Given the description of an element on the screen output the (x, y) to click on. 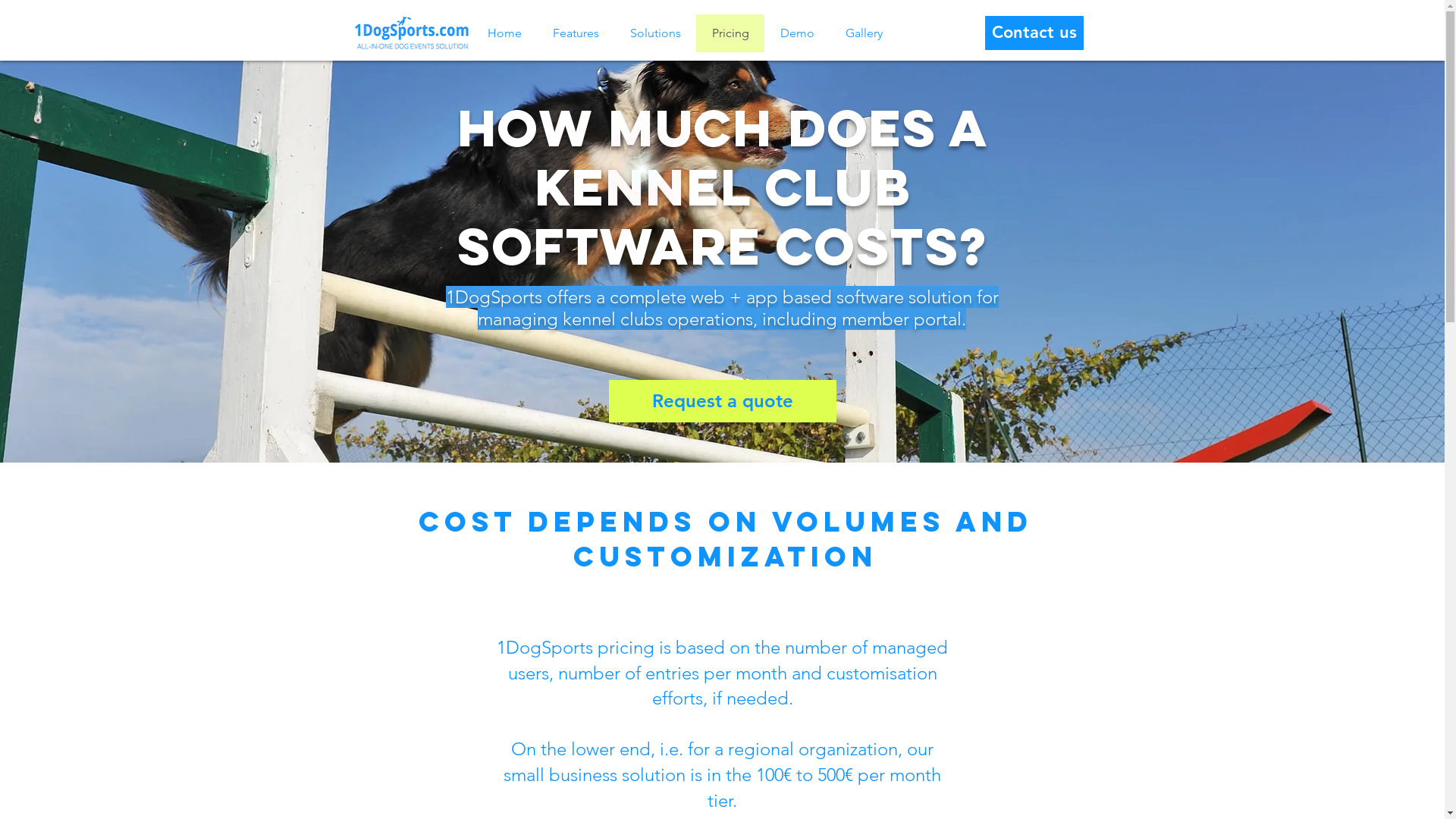
Demo Element type: text (796, 33)
Contact us Element type: text (1033, 32)
Gallery Element type: text (863, 33)
Pricing Element type: text (730, 33)
Home Element type: text (503, 33)
Request a quote Element type: text (721, 400)
